Given the description of an element on the screen output the (x, y) to click on. 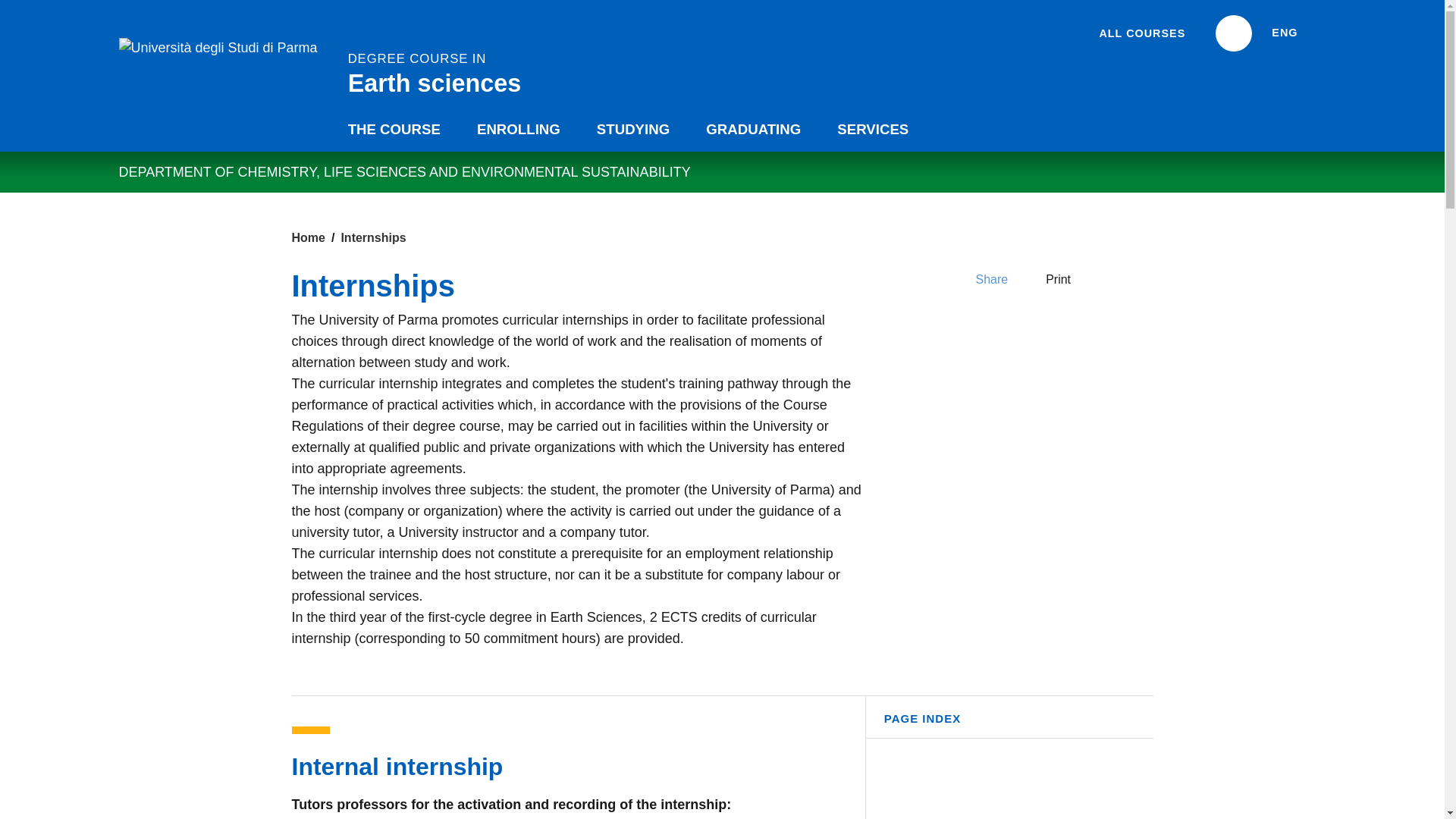
STUDYING (632, 129)
THE COURSE (394, 129)
ALL COURSES (1142, 33)
ENROLLING (518, 129)
Vai al contenuto principale (432, 70)
PAGE INDEX (6, 6)
GRADUATING (1009, 724)
ENG (752, 129)
